Given the description of an element on the screen output the (x, y) to click on. 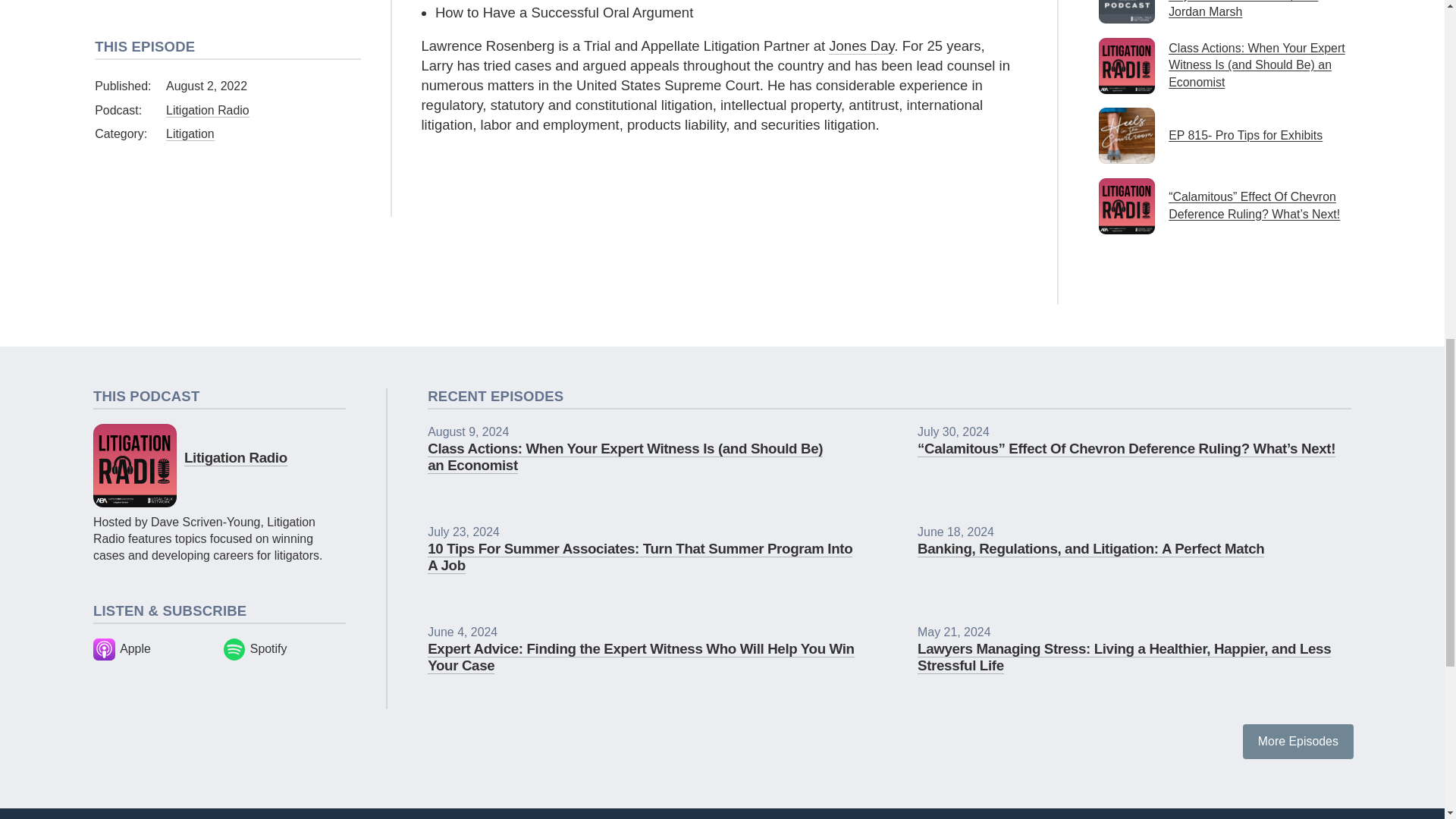
Jones Day (860, 45)
Litigation Radio (235, 457)
EP 815- Pro Tips for Exhibits (1225, 135)
Litigation Radio (134, 464)
Litigation (189, 133)
Litigation Radio (206, 110)
